Given the description of an element on the screen output the (x, y) to click on. 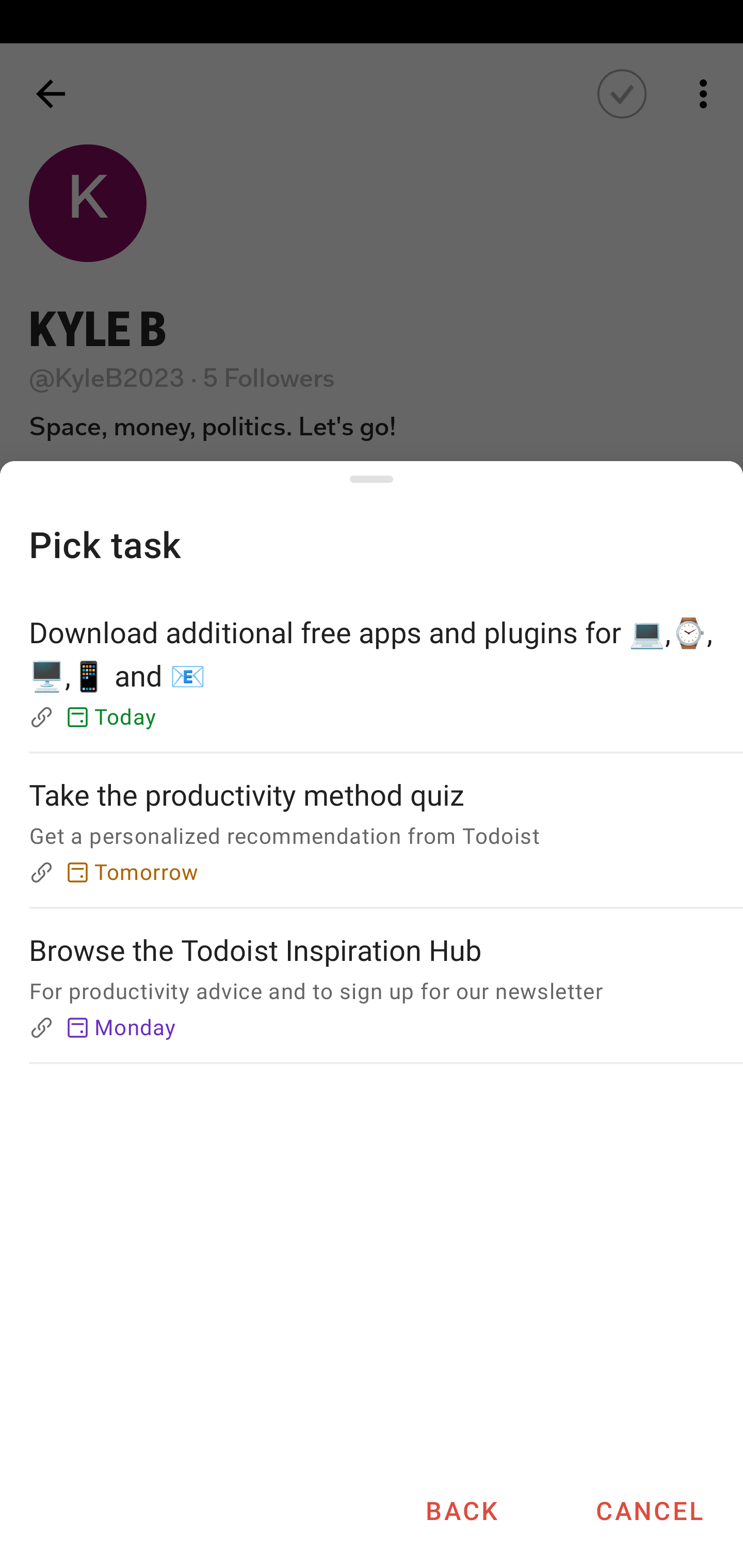
BACK (460, 1510)
CANCEL (648, 1510)
